Given the description of an element on the screen output the (x, y) to click on. 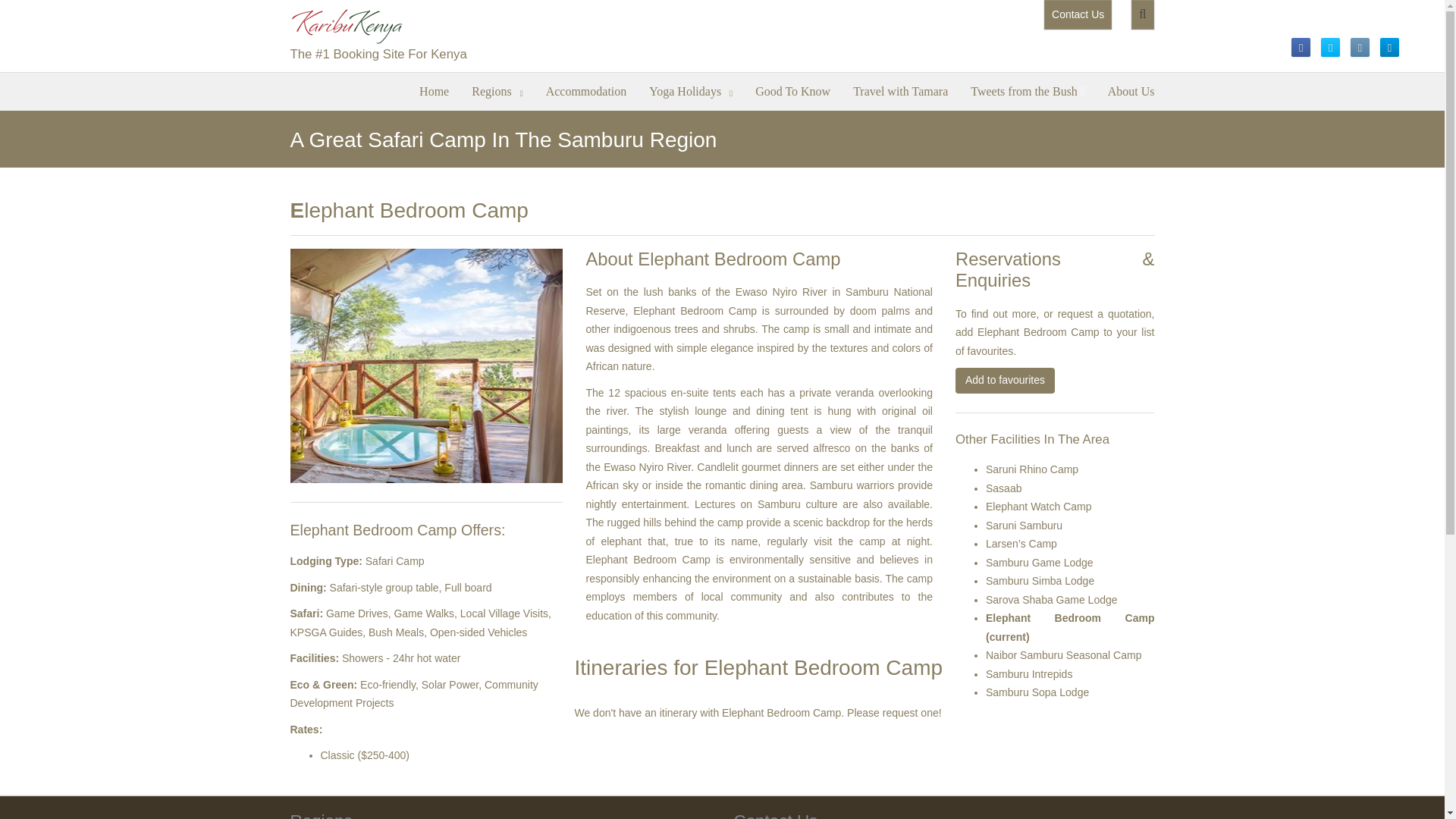
Yoga Holidays (690, 90)
Travel with Tamara (900, 90)
Home (433, 90)
Saruni Rhino Camp (1031, 469)
Regions (497, 90)
About Us (1131, 90)
Add to favourites (1004, 380)
Accommodation (586, 90)
Tweets from the Bush (1027, 90)
Good To Know (792, 90)
